Given the description of an element on the screen output the (x, y) to click on. 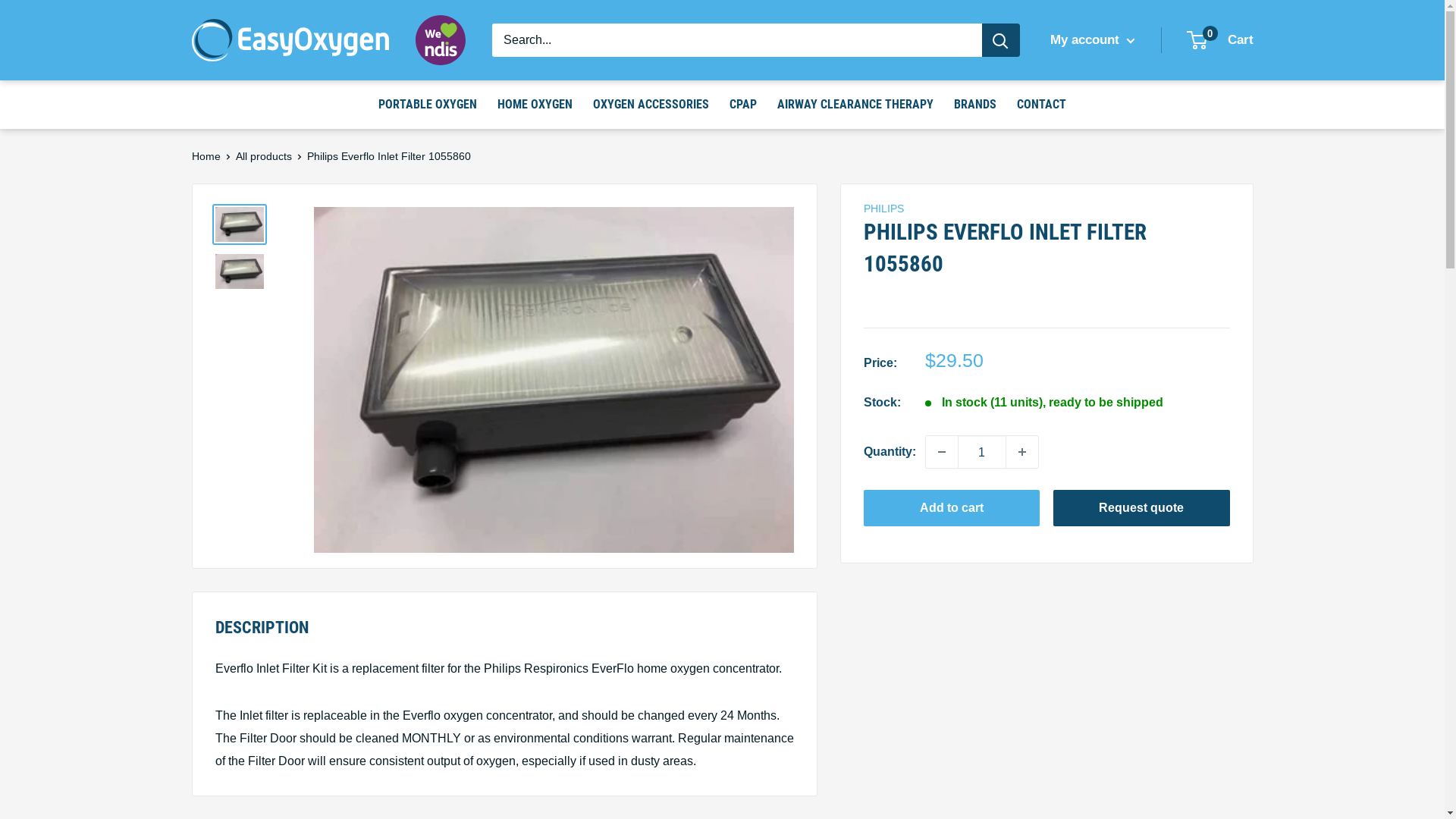
Increase quantity by 1 Element type: hover (1021, 451)
Request quote Element type: text (1141, 507)
Home Element type: text (205, 156)
Add to cart Element type: text (950, 507)
CPAP Element type: text (742, 104)
HOME OXYGEN Element type: text (534, 104)
Decrease quantity by 1 Element type: hover (941, 451)
My account Element type: text (1091, 40)
PHILIPS Element type: text (882, 208)
All products Element type: text (263, 156)
CONTACT Element type: text (1041, 104)
OXYGEN ACCESSORIES Element type: text (651, 104)
AIRWAY CLEARANCE THERAPY Element type: text (855, 104)
0
Cart Element type: text (1219, 40)
BRANDS Element type: text (974, 104)
Registered NDIS Provider Element type: hover (440, 40)
PORTABLE OXYGEN Element type: text (427, 104)
